Given the description of an element on the screen output the (x, y) to click on. 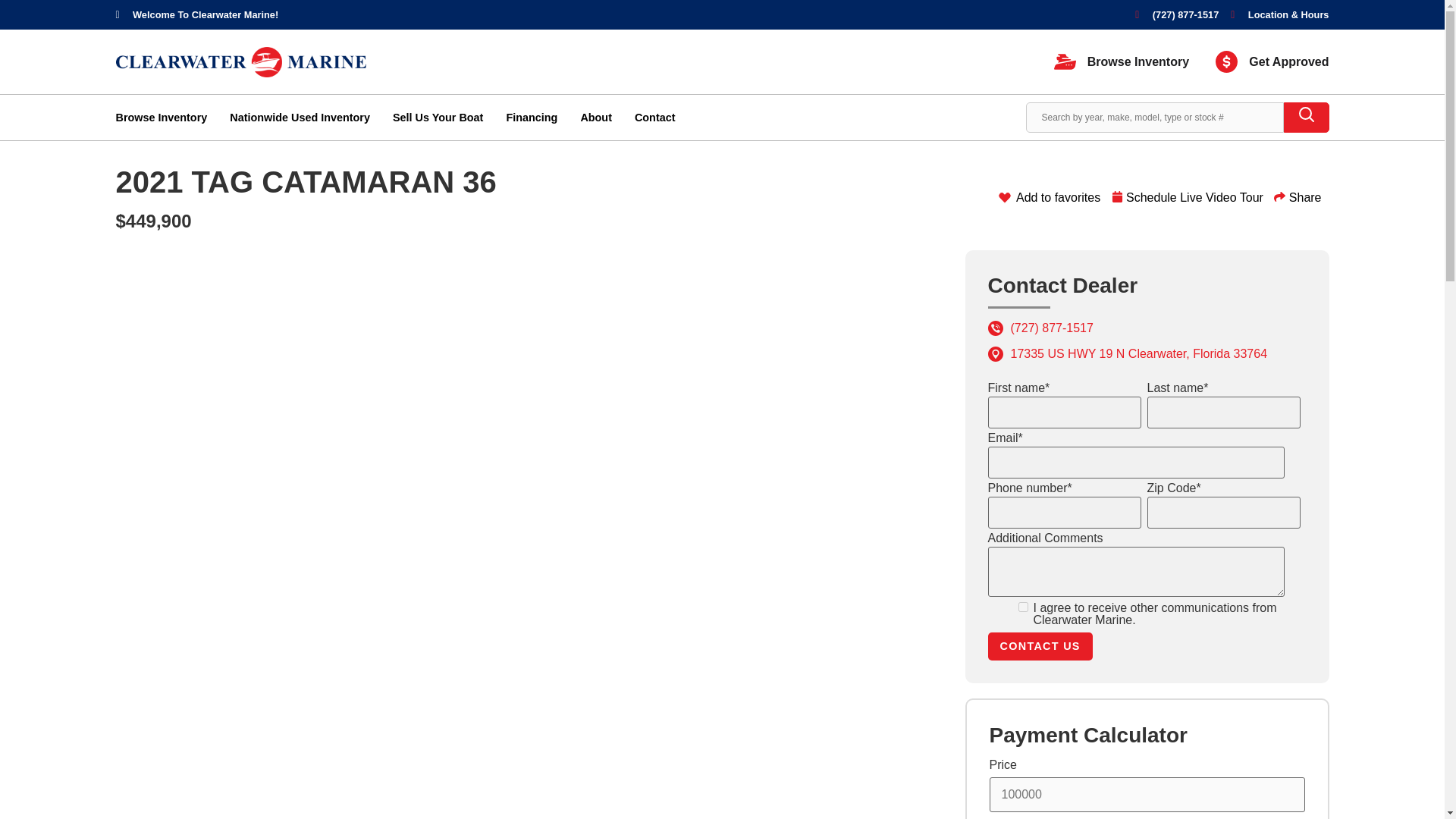
About (595, 117)
Contact (654, 117)
Contact Us (1039, 646)
Browse Inventory (1121, 61)
true (1022, 606)
Browse Inventory (160, 117)
Sell Us Your Boat (438, 117)
Financing (531, 117)
Get Approved (1271, 61)
Nationwide Used Inventory (299, 117)
